Given the description of an element on the screen output the (x, y) to click on. 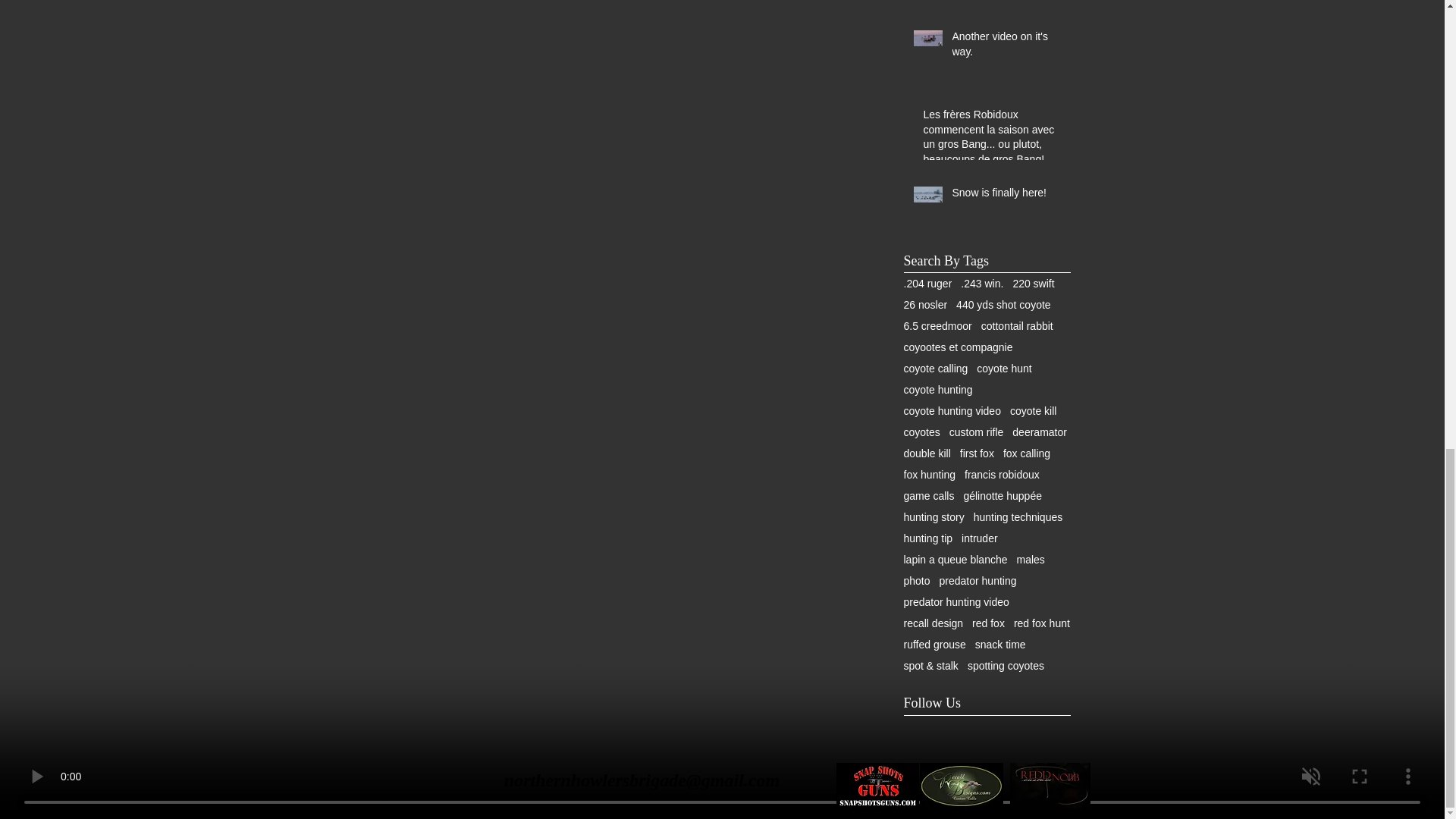
Snow is finally here! (1006, 196)
.204 ruger (928, 283)
Another video on it's way. (1006, 47)
.243 win. (981, 283)
26 nosler (925, 304)
220 swift (1032, 283)
6.5 creedmoor (938, 326)
snap shots web page icon.jpg (876, 785)
440 yds shot coyote (1003, 304)
